Given the description of an element on the screen output the (x, y) to click on. 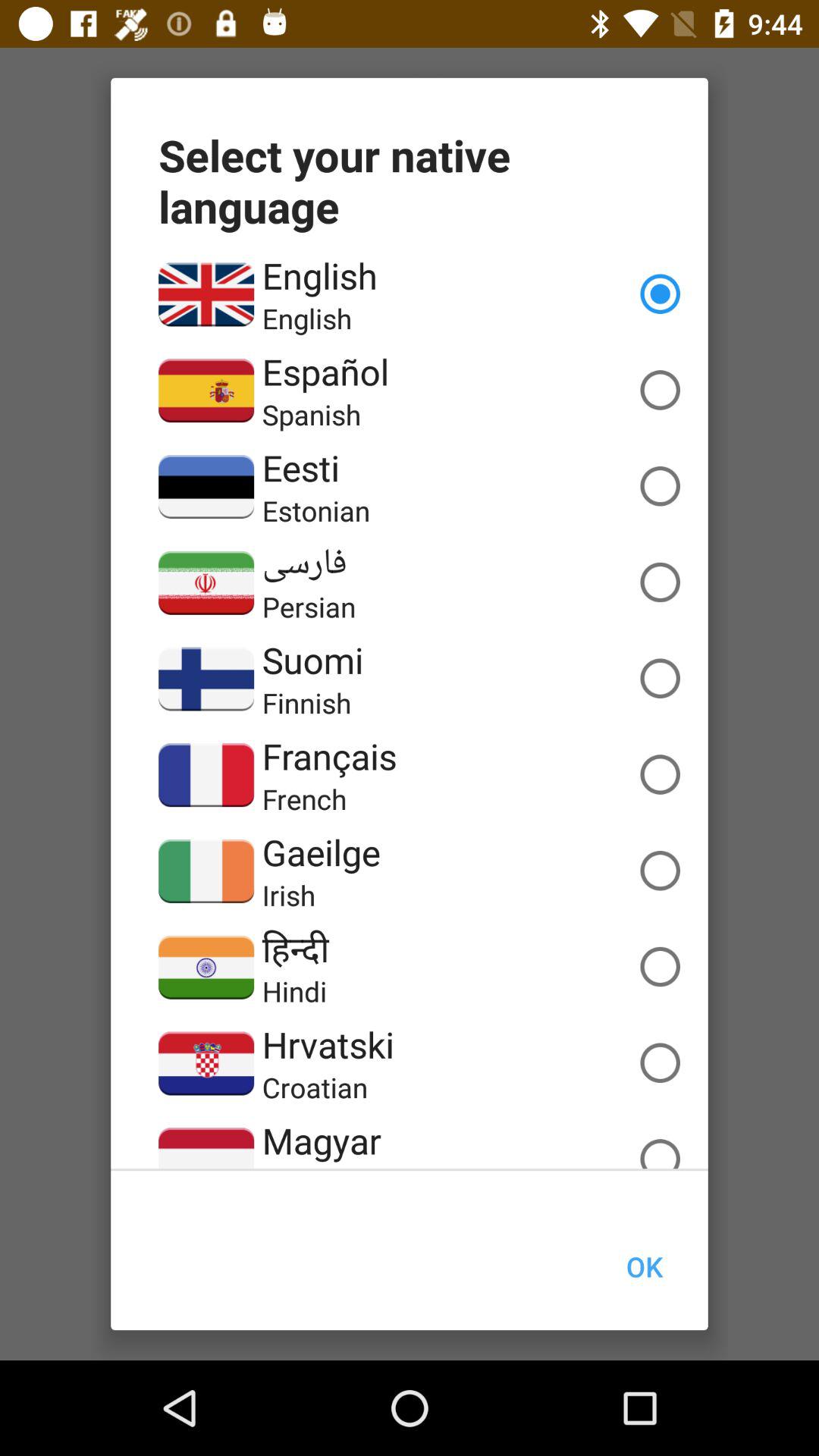
scroll until the french icon (304, 798)
